Given the description of an element on the screen output the (x, y) to click on. 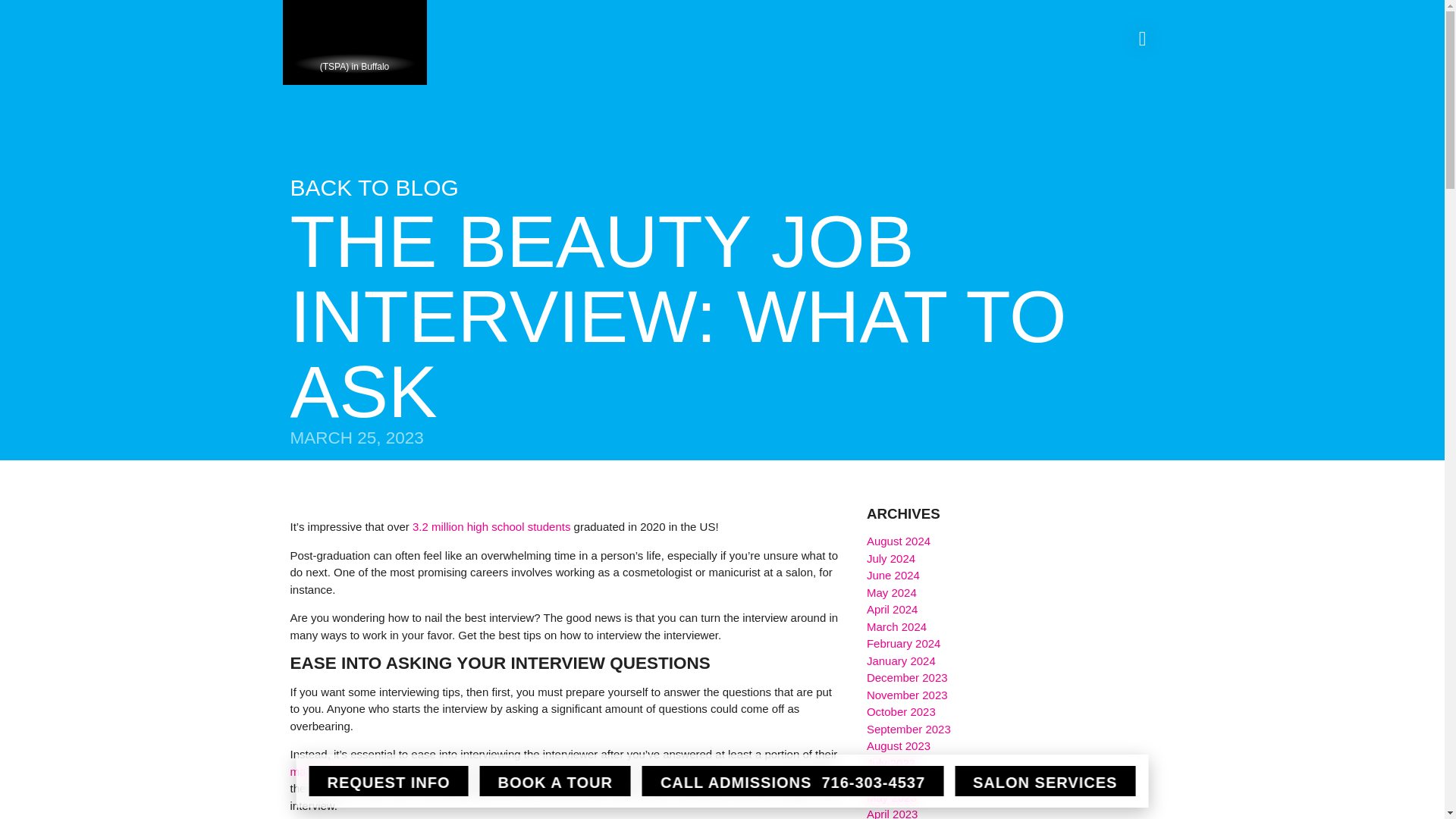
March 2024 (896, 626)
3.2 million high school students (491, 526)
May 2024 (891, 592)
August 2024 (898, 540)
October 2023 (901, 711)
Salon Services (1045, 780)
July 2023 (890, 762)
July 2024 (890, 558)
December 2023 (906, 676)
June 2024 (893, 574)
